Given the description of an element on the screen output the (x, y) to click on. 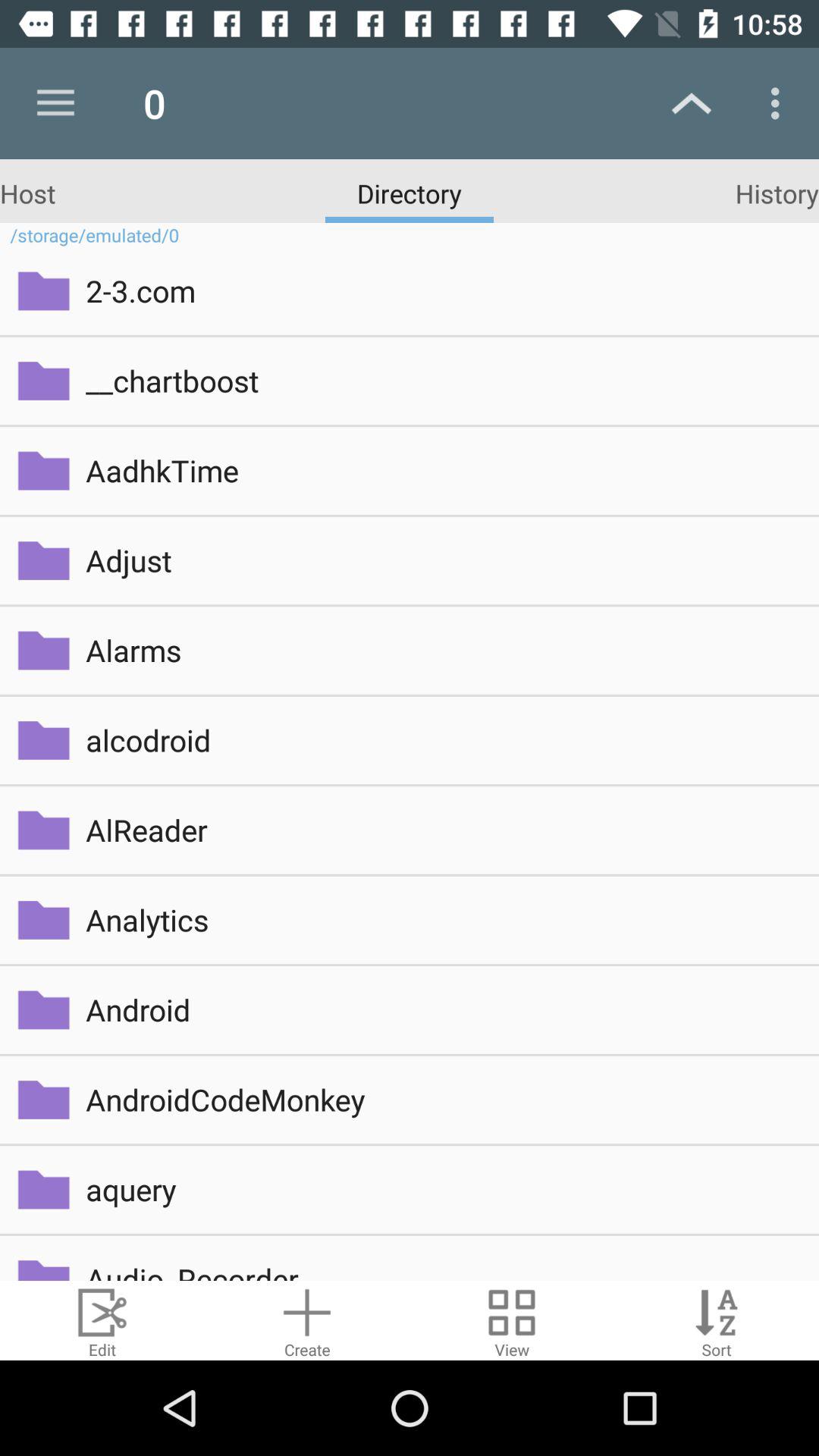
sort alphabetically (716, 1320)
